Given the description of an element on the screen output the (x, y) to click on. 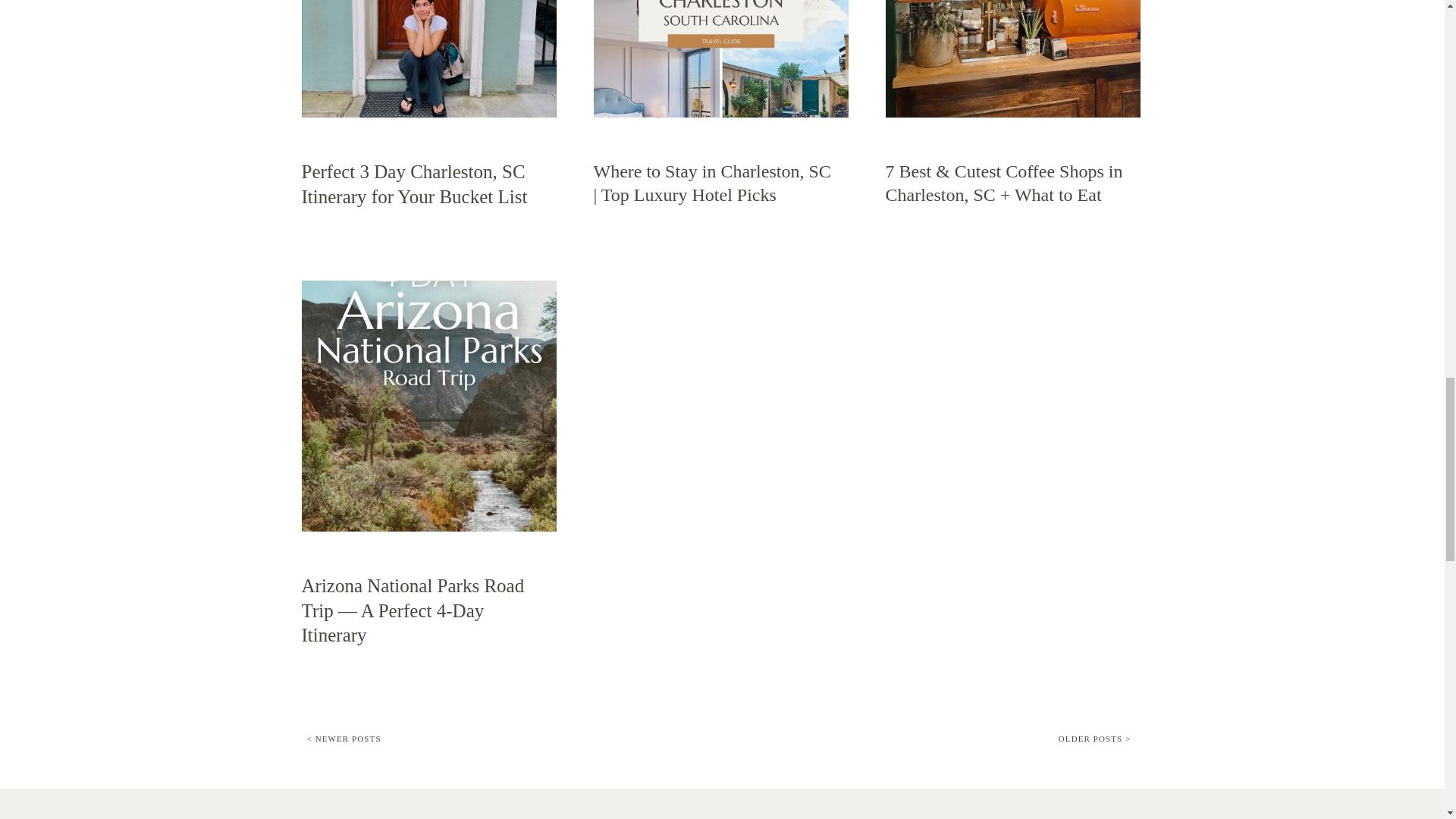
Perfect 3 Day Charleston, SC Itinerary for Your Bucket List (428, 58)
